Given the description of an element on the screen output the (x, y) to click on. 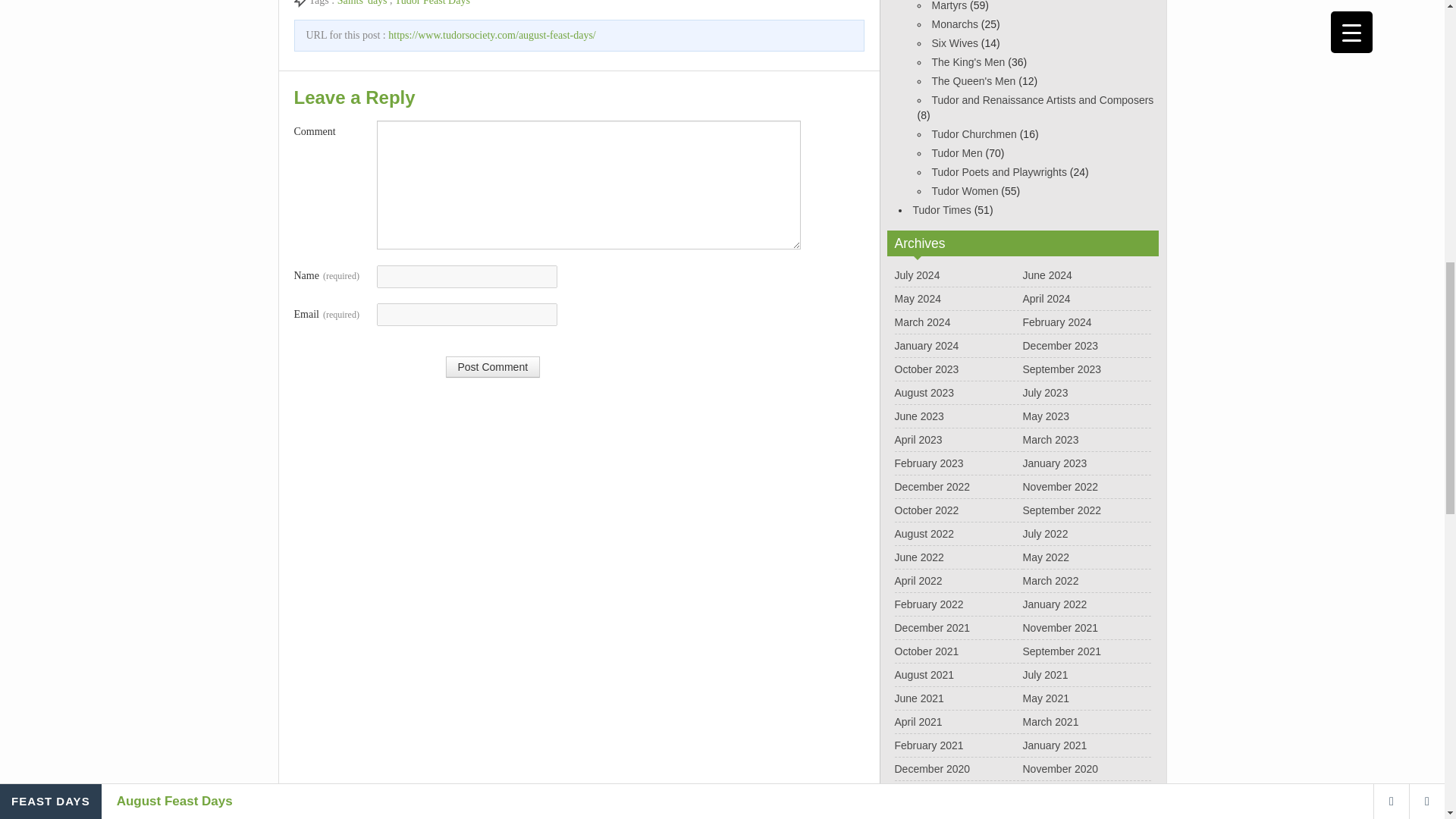
Post Comment (492, 366)
Tudor Feast Days (432, 2)
Saints' days (362, 2)
Post Comment (492, 366)
